Given the description of an element on the screen output the (x, y) to click on. 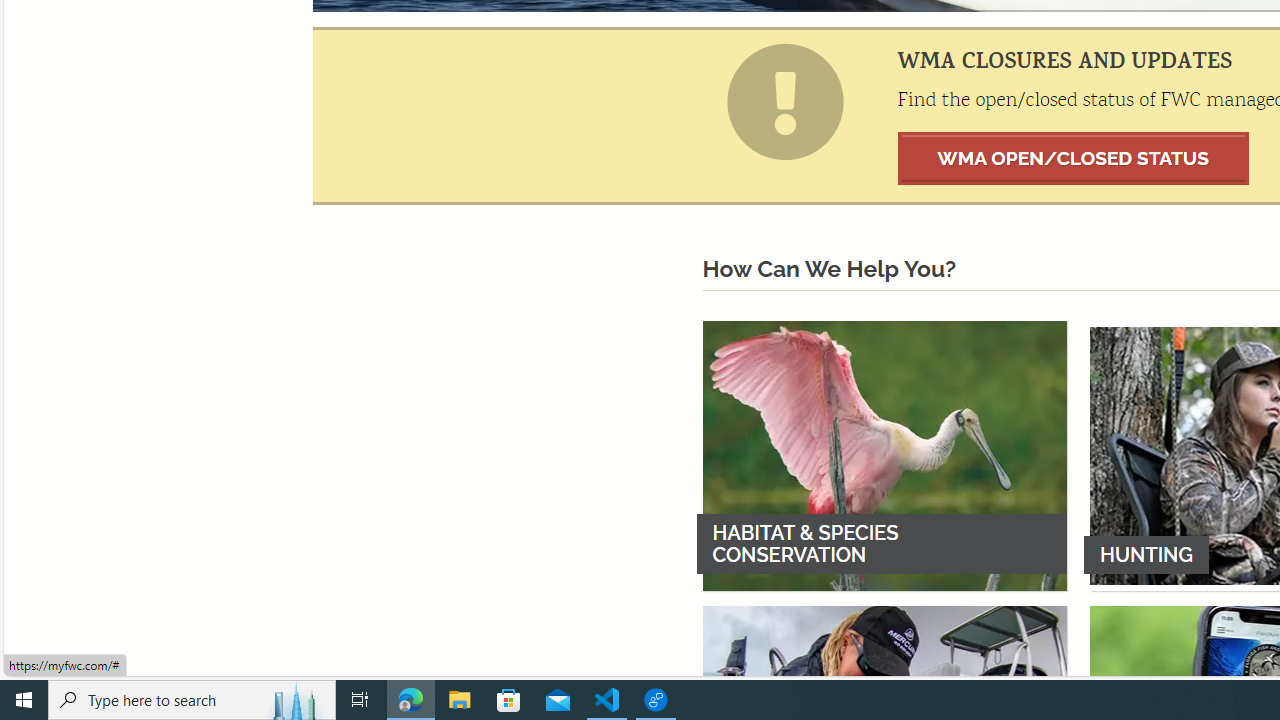
WMA OPEN/CLOSED STATUS (1073, 158)
HABITAT & SPECIES CONSERVATION (884, 455)
